Given the description of an element on the screen output the (x, y) to click on. 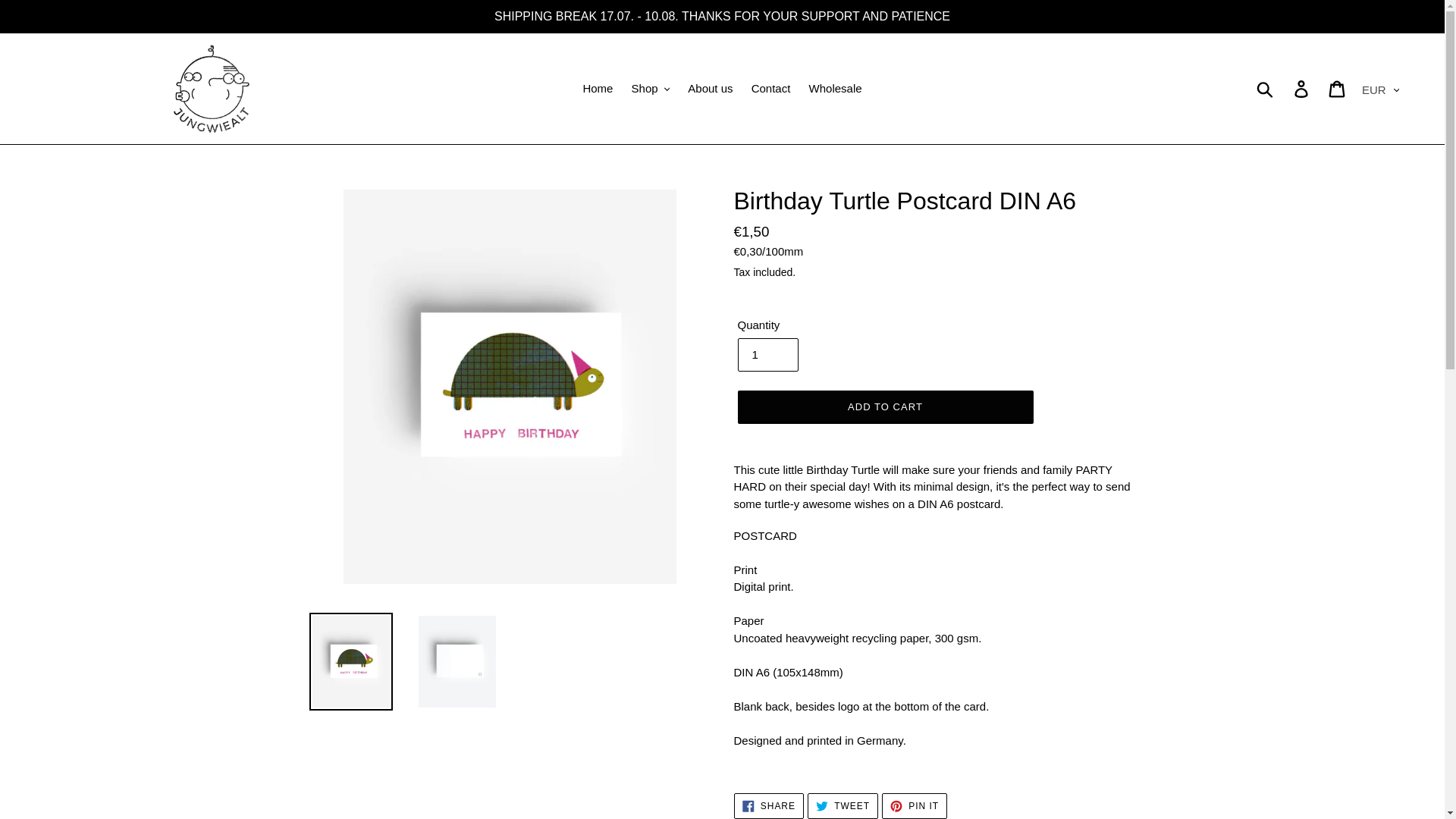
Contact (770, 88)
Wholesale (835, 88)
Home (597, 88)
Submit (1265, 88)
1 (766, 354)
About us (709, 88)
